Given the description of an element on the screen output the (x, y) to click on. 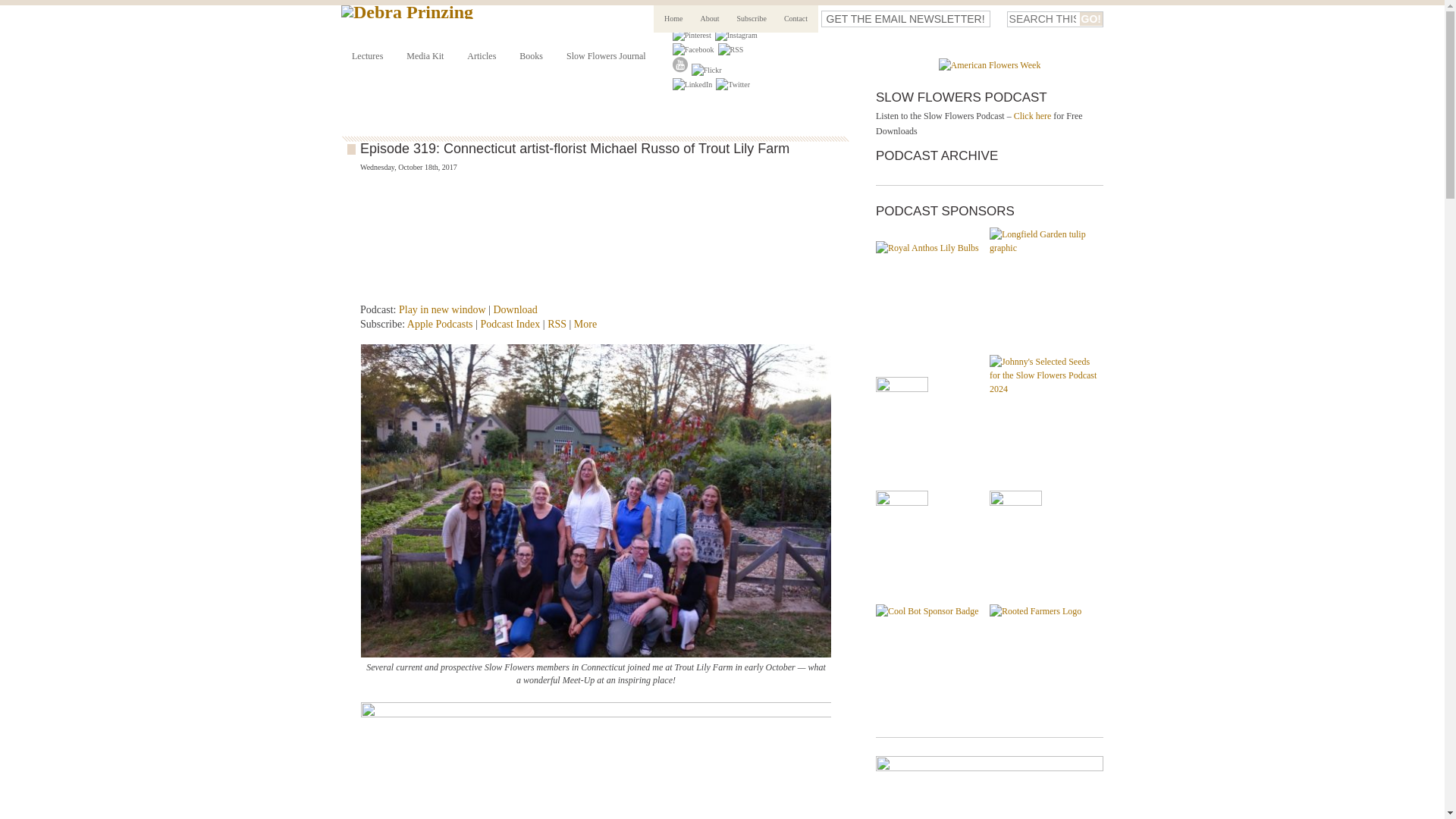
Podcast Index (510, 324)
Download (515, 309)
Download (515, 309)
Lectures (367, 55)
Subscribe on Podcast Index (510, 324)
Media Kit (424, 55)
Home (673, 18)
Subscribe via RSS (556, 324)
Slow Flowers Journal (605, 55)
More (584, 324)
Play in new window (442, 309)
Apple Podcasts (440, 324)
Articles (481, 55)
Subscribe on Apple Podcasts (440, 324)
RSS (556, 324)
